Given the description of an element on the screen output the (x, y) to click on. 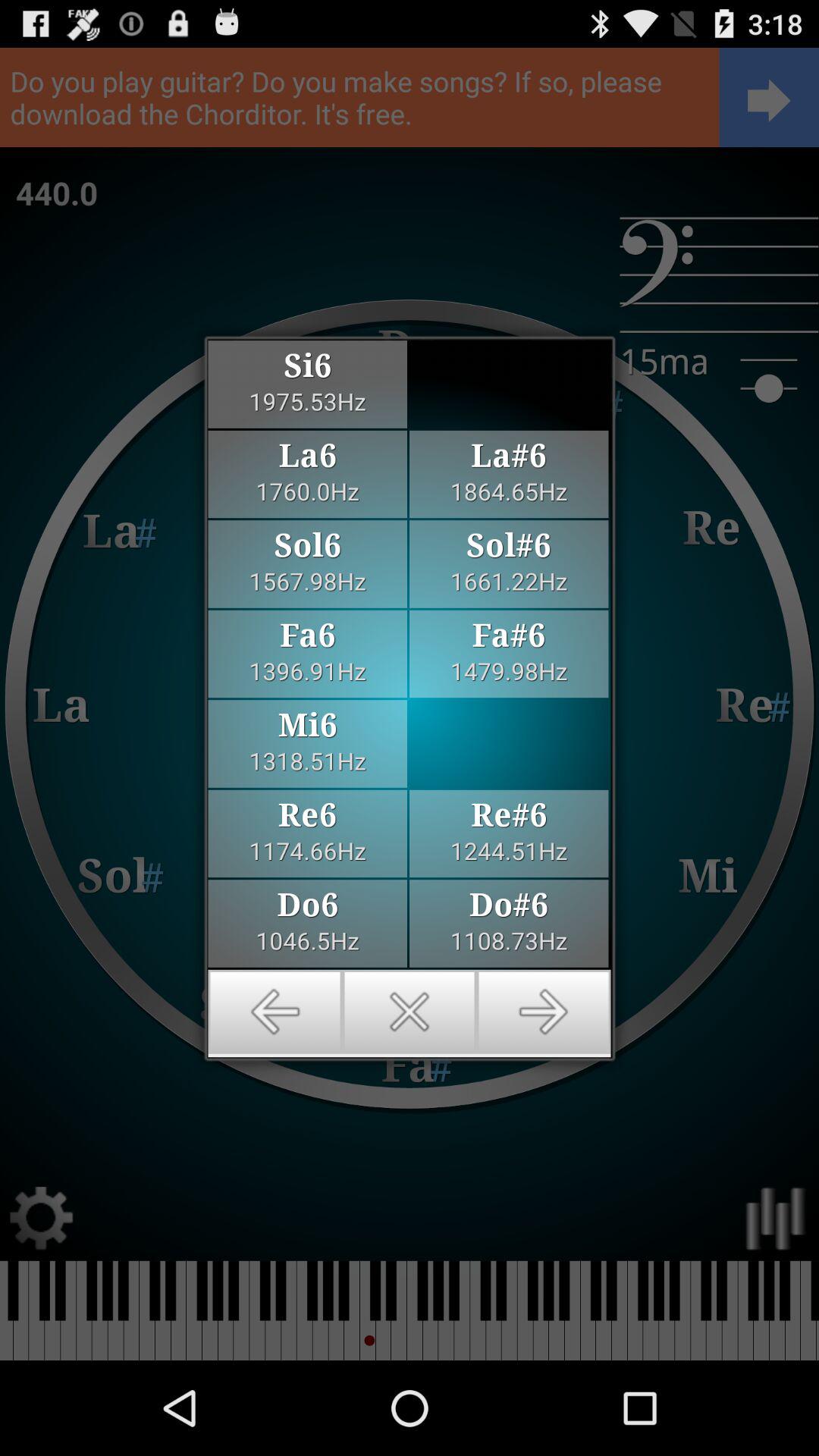
close menu (409, 1011)
